Given the description of an element on the screen output the (x, y) to click on. 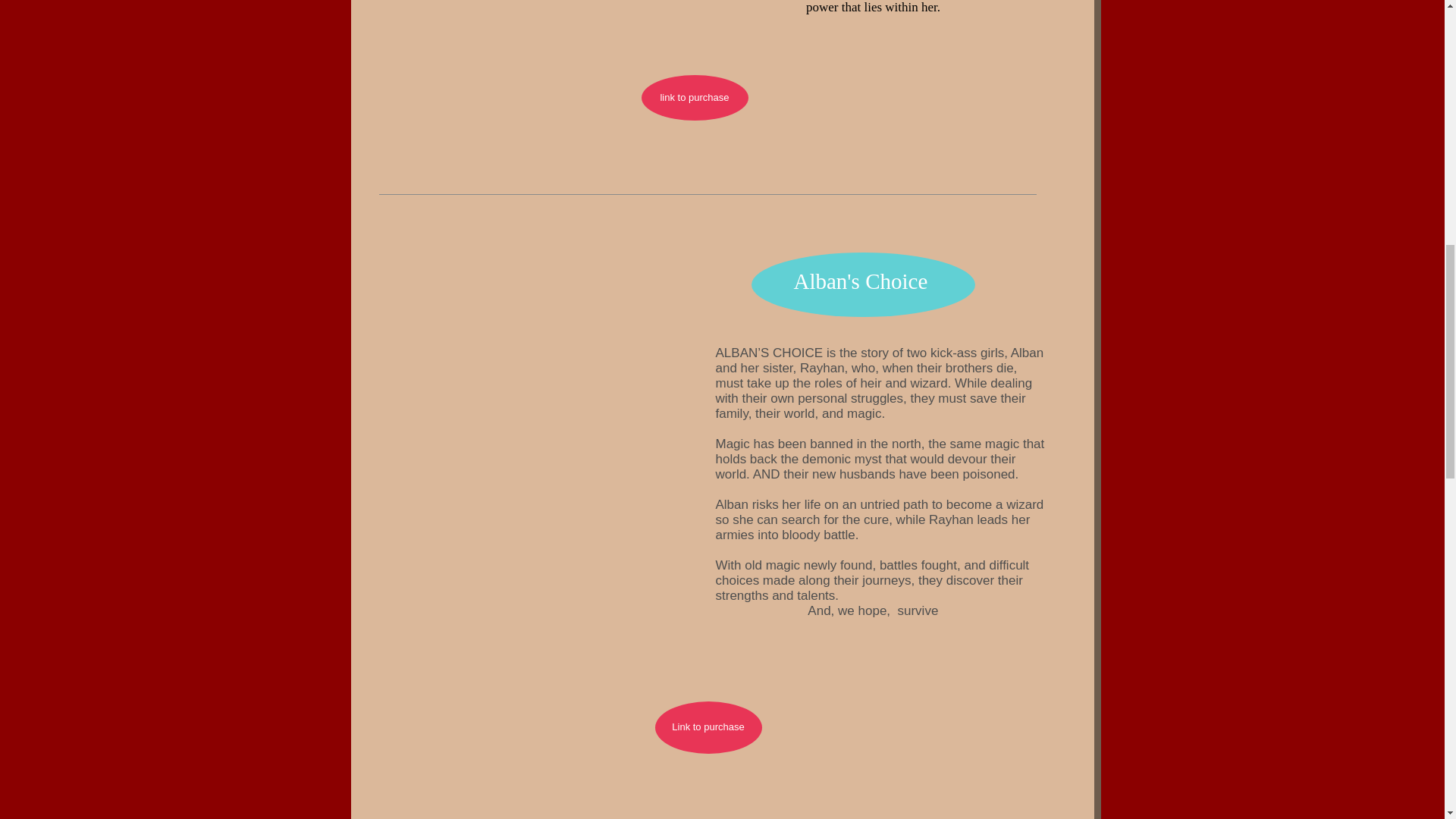
Link to purchase (708, 727)
link to purchase (695, 97)
